Given the description of an element on the screen output the (x, y) to click on. 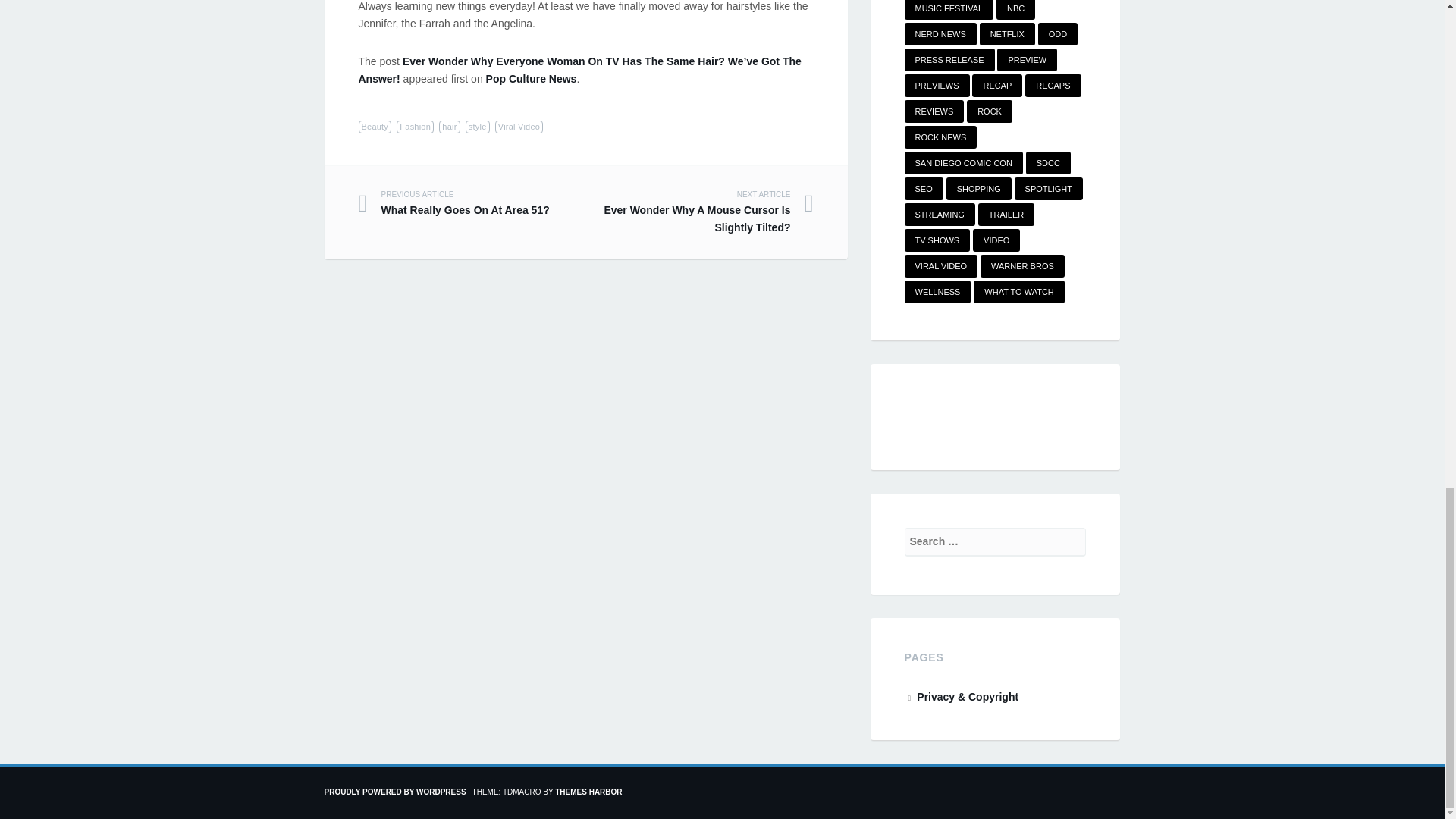
style (477, 126)
Pop Culture News (531, 78)
Viral Video (519, 126)
hair (449, 126)
Beauty (374, 126)
Fashion (471, 204)
